Given the description of an element on the screen output the (x, y) to click on. 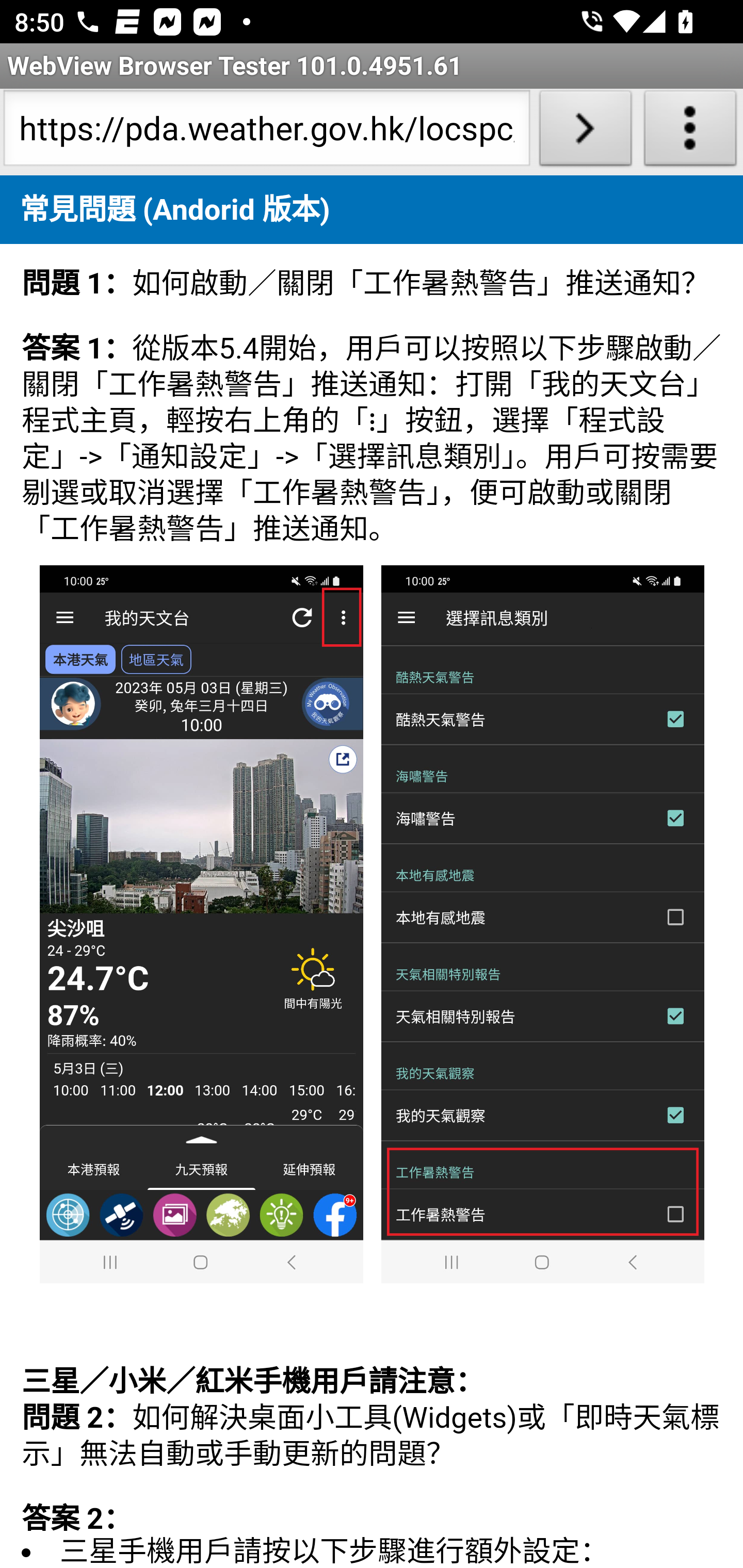
Load URL (585, 132)
About WebView (690, 132)
